Given the description of an element on the screen output the (x, y) to click on. 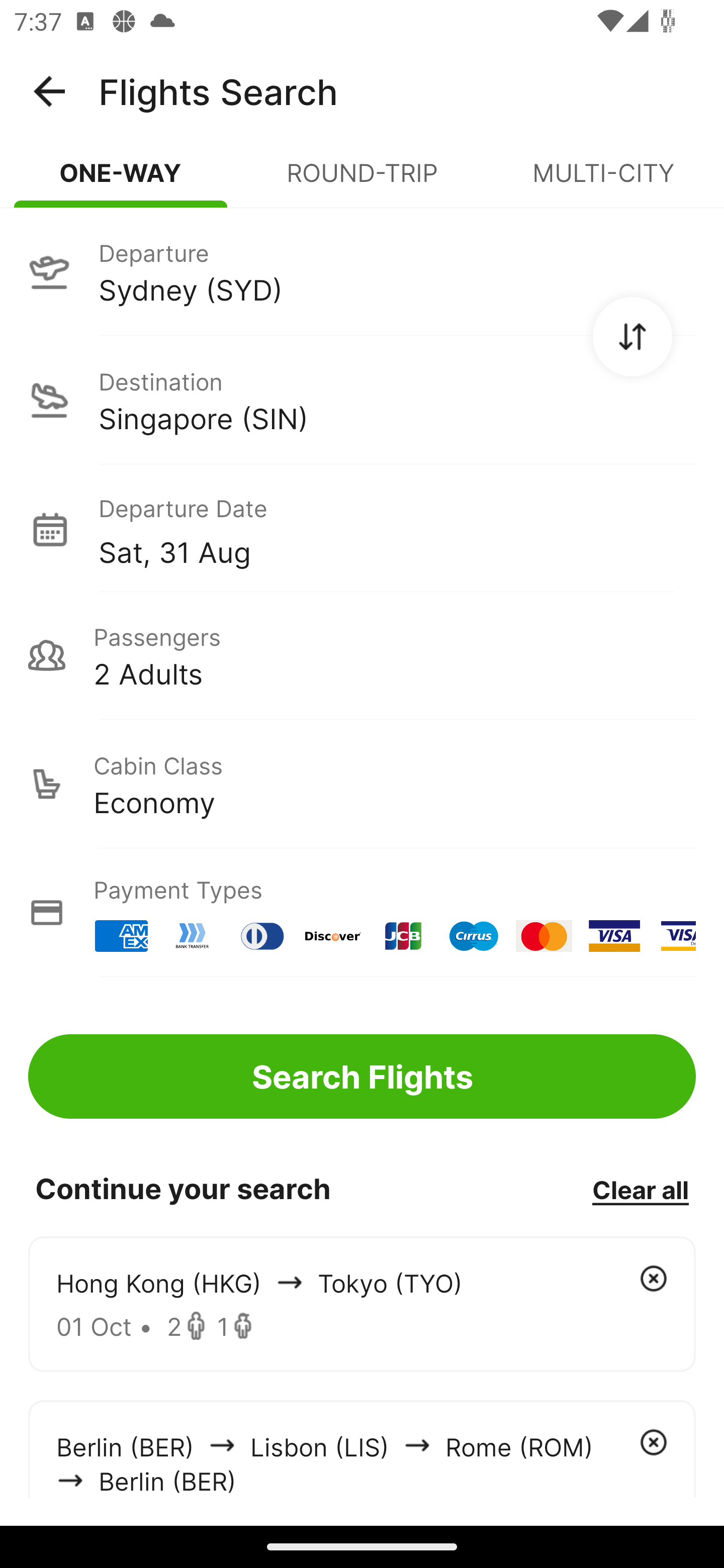
ONE-WAY (120, 180)
ROUND-TRIP (361, 180)
MULTI-CITY (603, 180)
Departure Sydney (SYD) (362, 270)
Destination Singapore (SIN) (362, 400)
Departure Date Sat, 31 Aug (396, 528)
Passengers 2 Adults (362, 655)
Cabin Class Economy (362, 783)
Payment Types (362, 912)
Search Flights (361, 1075)
Clear all (640, 1189)
